Given the description of an element on the screen output the (x, y) to click on. 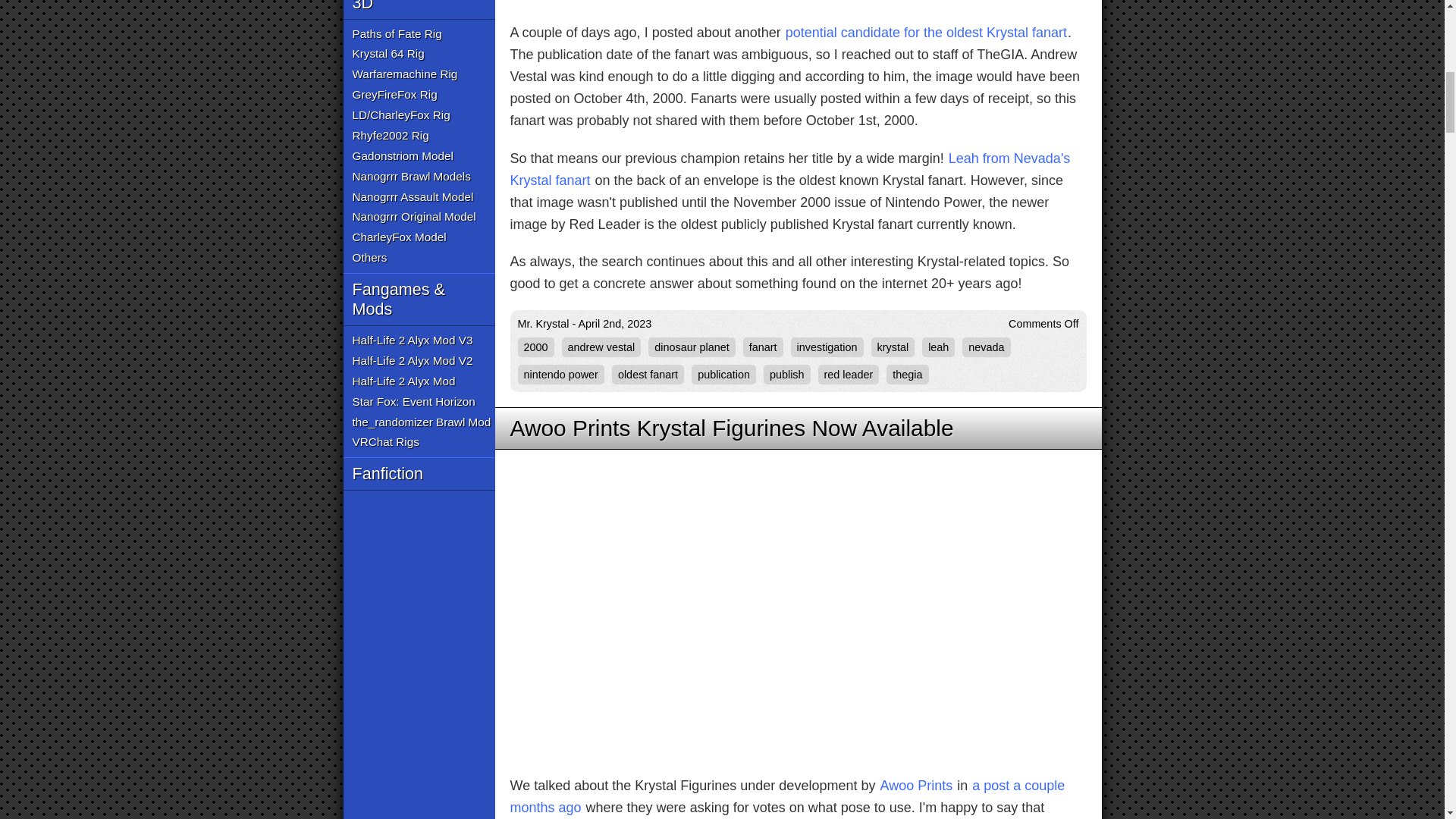
Warfaremachine Rig (404, 74)
Krystal 64 Rig (387, 54)
Paths of Fate Rig (396, 33)
3D (418, 9)
GreyFireFox Rig (394, 94)
